Given the description of an element on the screen output the (x, y) to click on. 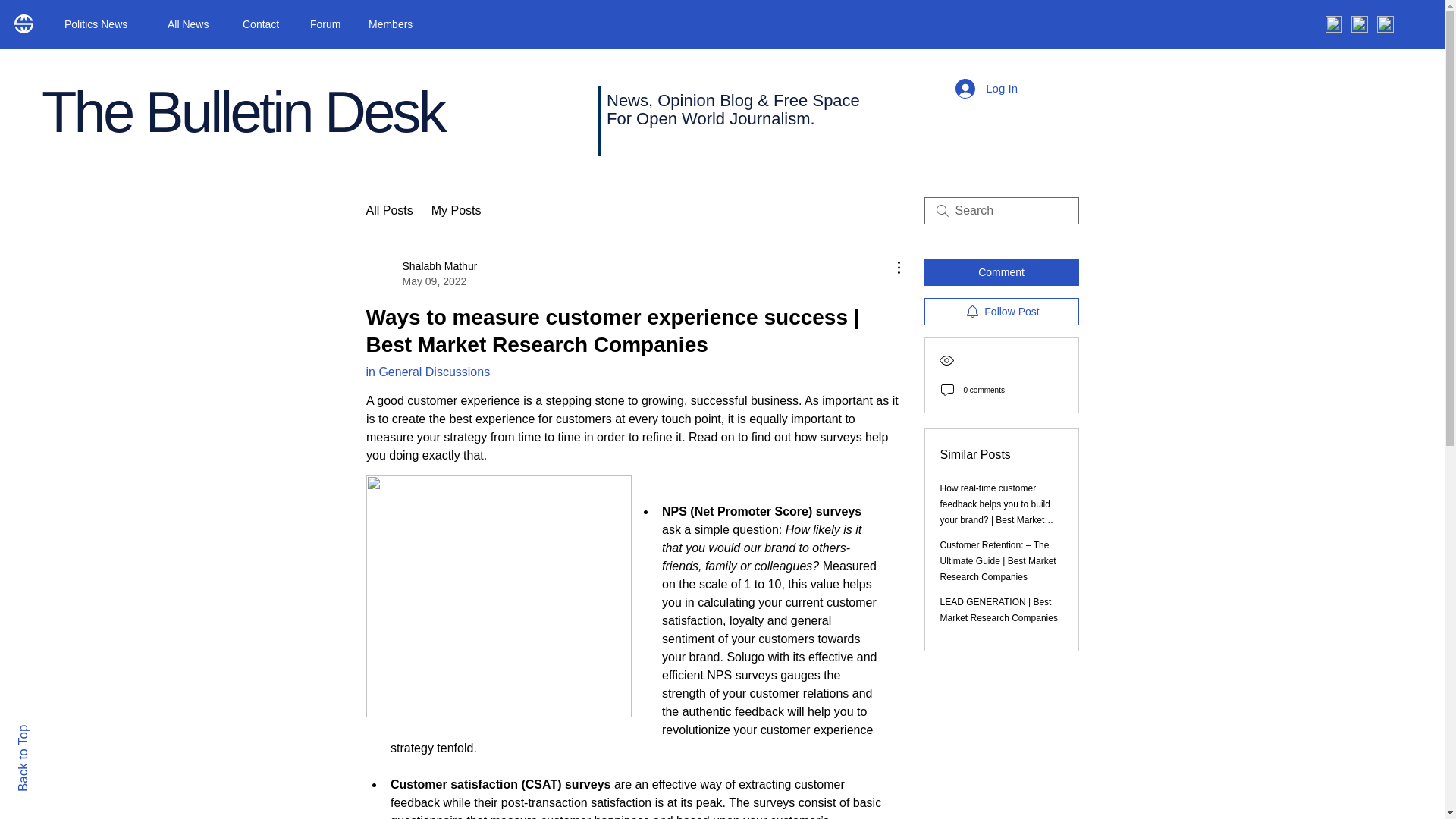
All News (193, 24)
Log In (985, 88)
Forum (327, 24)
Members (394, 24)
My Posts (455, 210)
Comment (1000, 271)
Back to Top (421, 273)
Follow Post (49, 730)
Politics News (1000, 311)
